Given the description of an element on the screen output the (x, y) to click on. 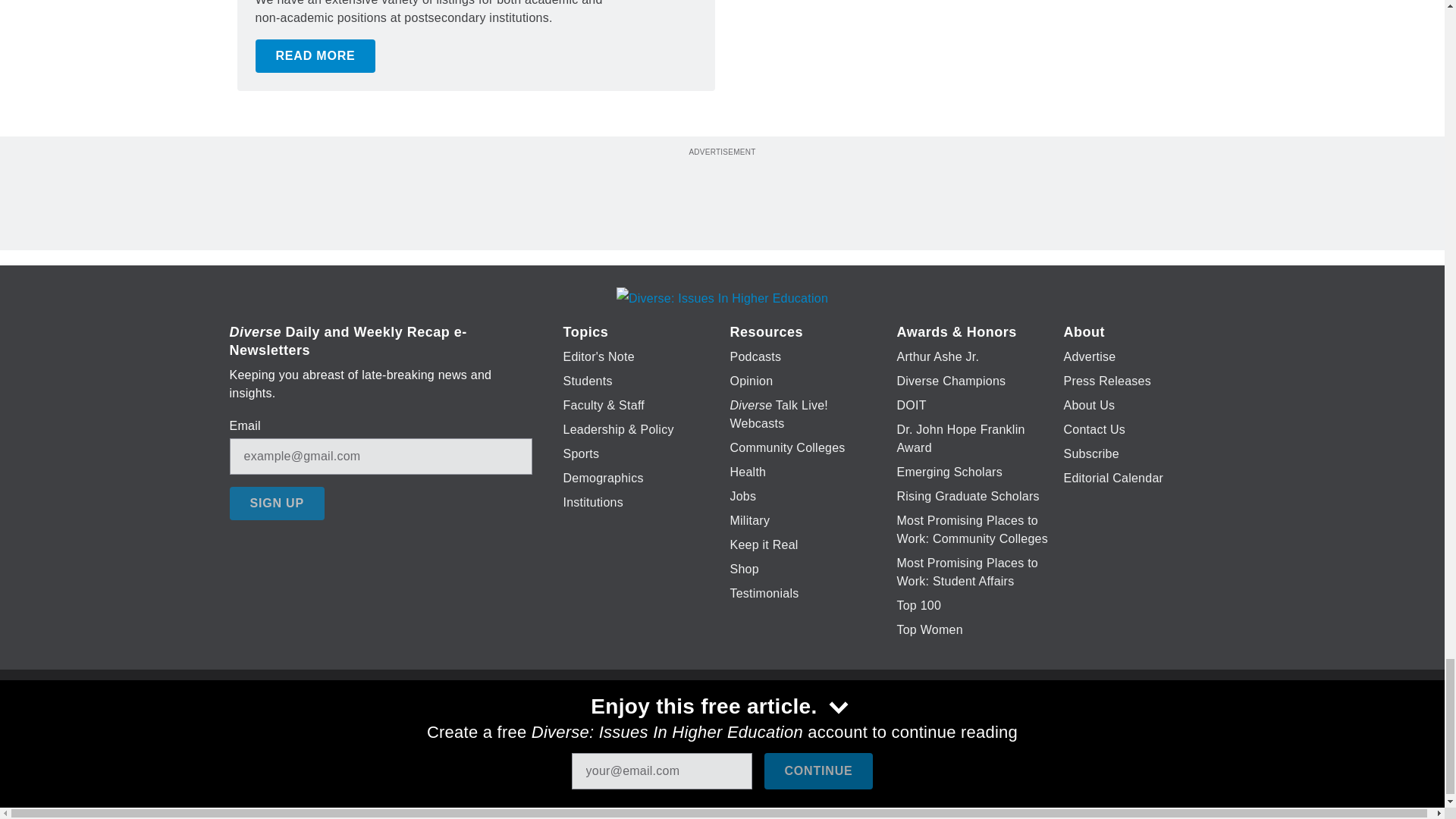
Instagram icon (796, 727)
LinkedIn icon (718, 727)
Twitter X icon (674, 727)
YouTube icon (757, 727)
Facebook icon (635, 727)
